Given the description of an element on the screen output the (x, y) to click on. 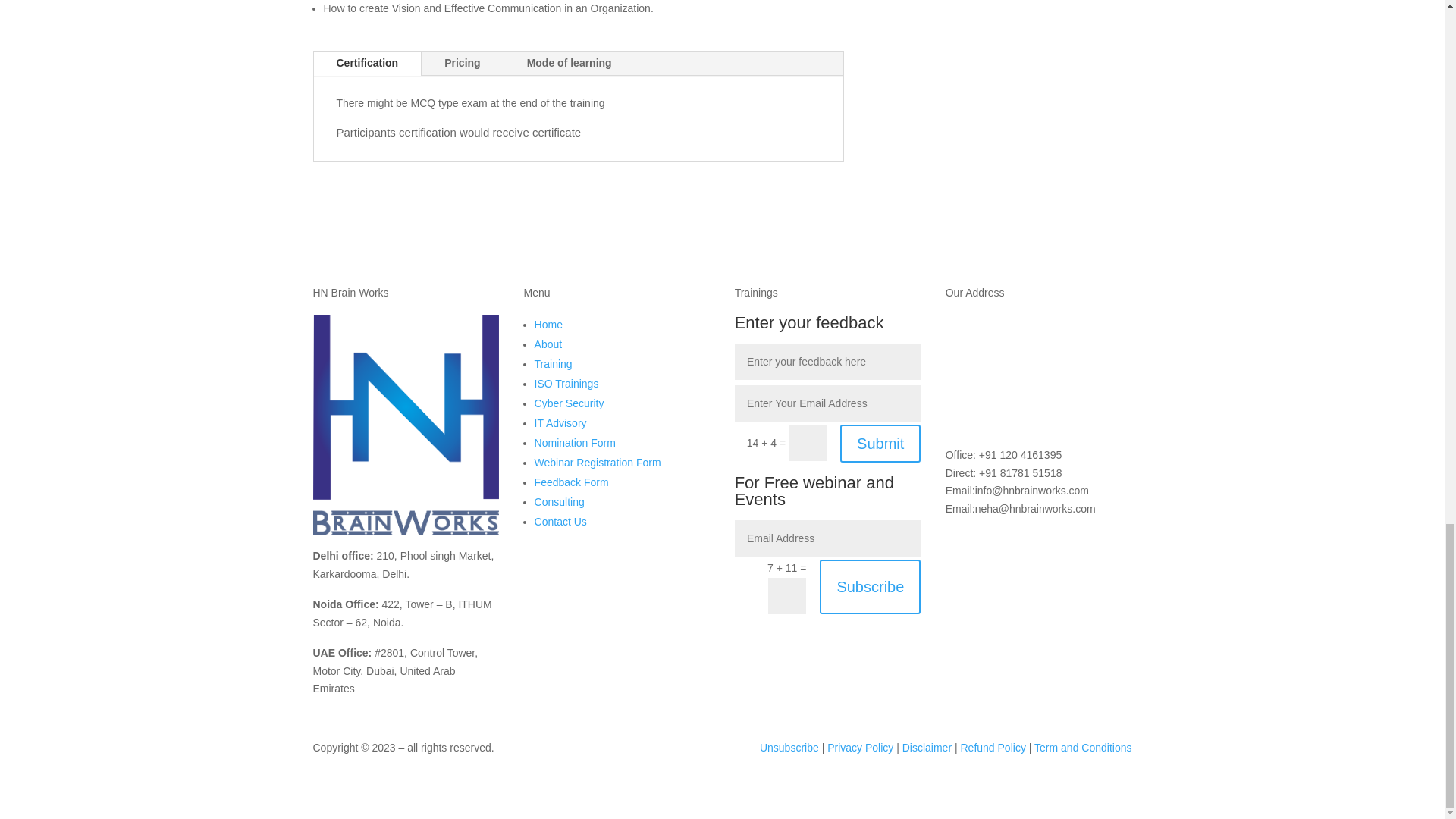
Follow on LinkedIn (987, 542)
Follow on Facebook (956, 542)
About (548, 344)
Mode of learning (568, 63)
Follow on Twitter (1048, 542)
Follow on Instagram (1018, 542)
Certification (368, 63)
Pricing (462, 63)
Home (548, 324)
